Given the description of an element on the screen output the (x, y) to click on. 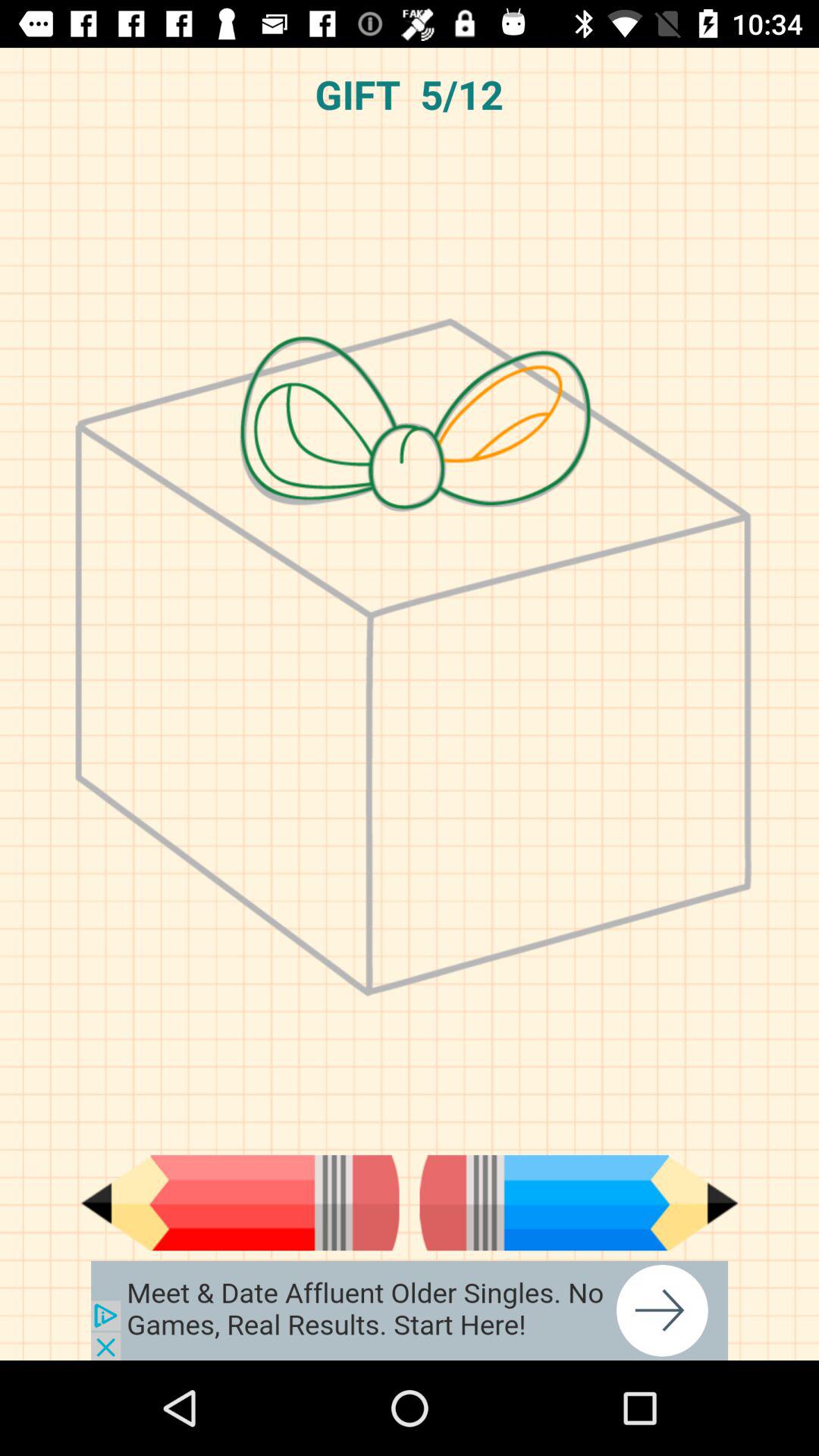
go back (239, 1202)
